Given the description of an element on the screen output the (x, y) to click on. 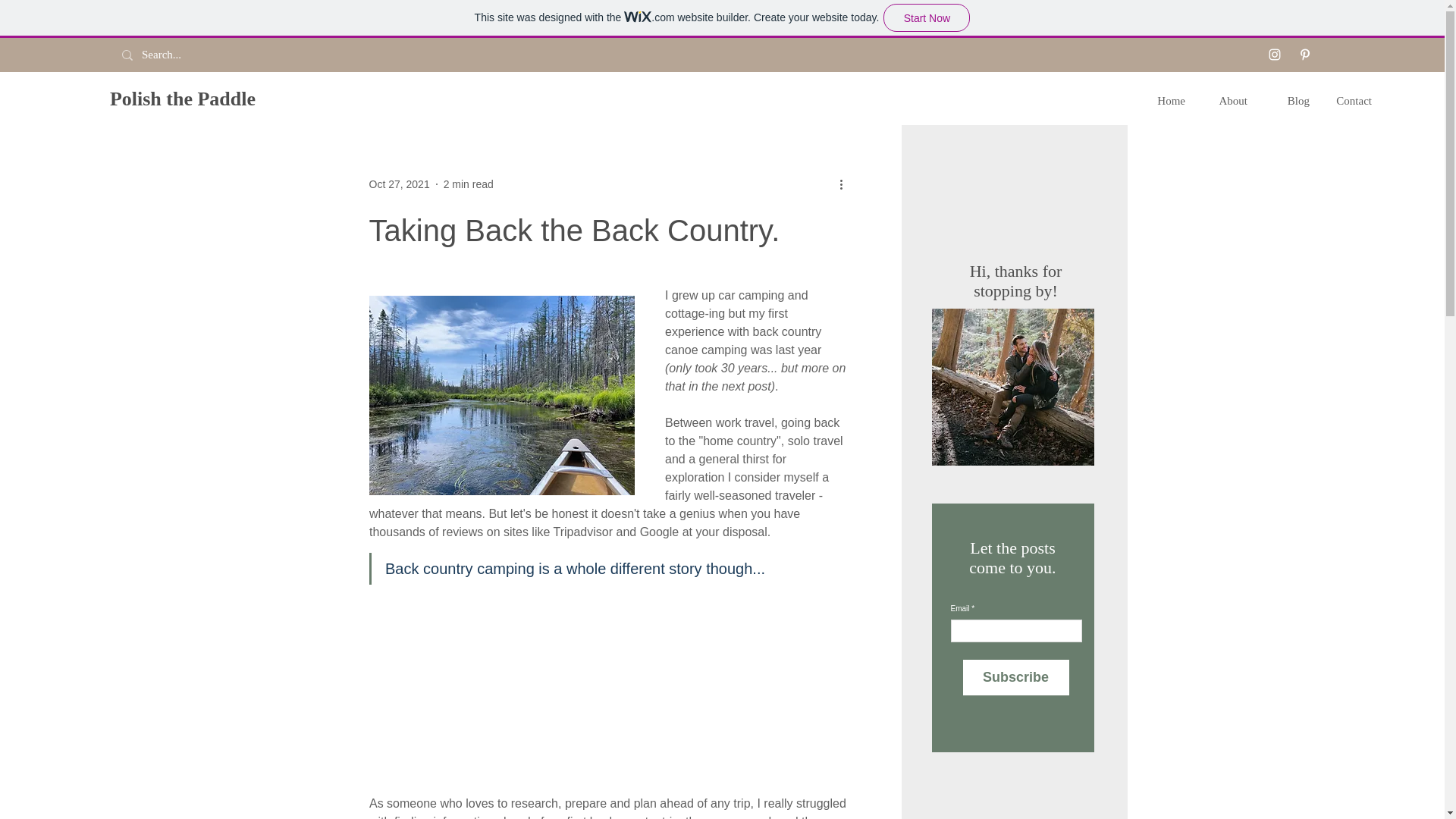
Polish the Paddle (183, 98)
Home (1165, 100)
2 min read (468, 183)
Contact (1351, 100)
Oct 27, 2021 (398, 183)
Blog (1289, 100)
Subscribe (1015, 677)
About (1227, 100)
